Given the description of an element on the screen output the (x, y) to click on. 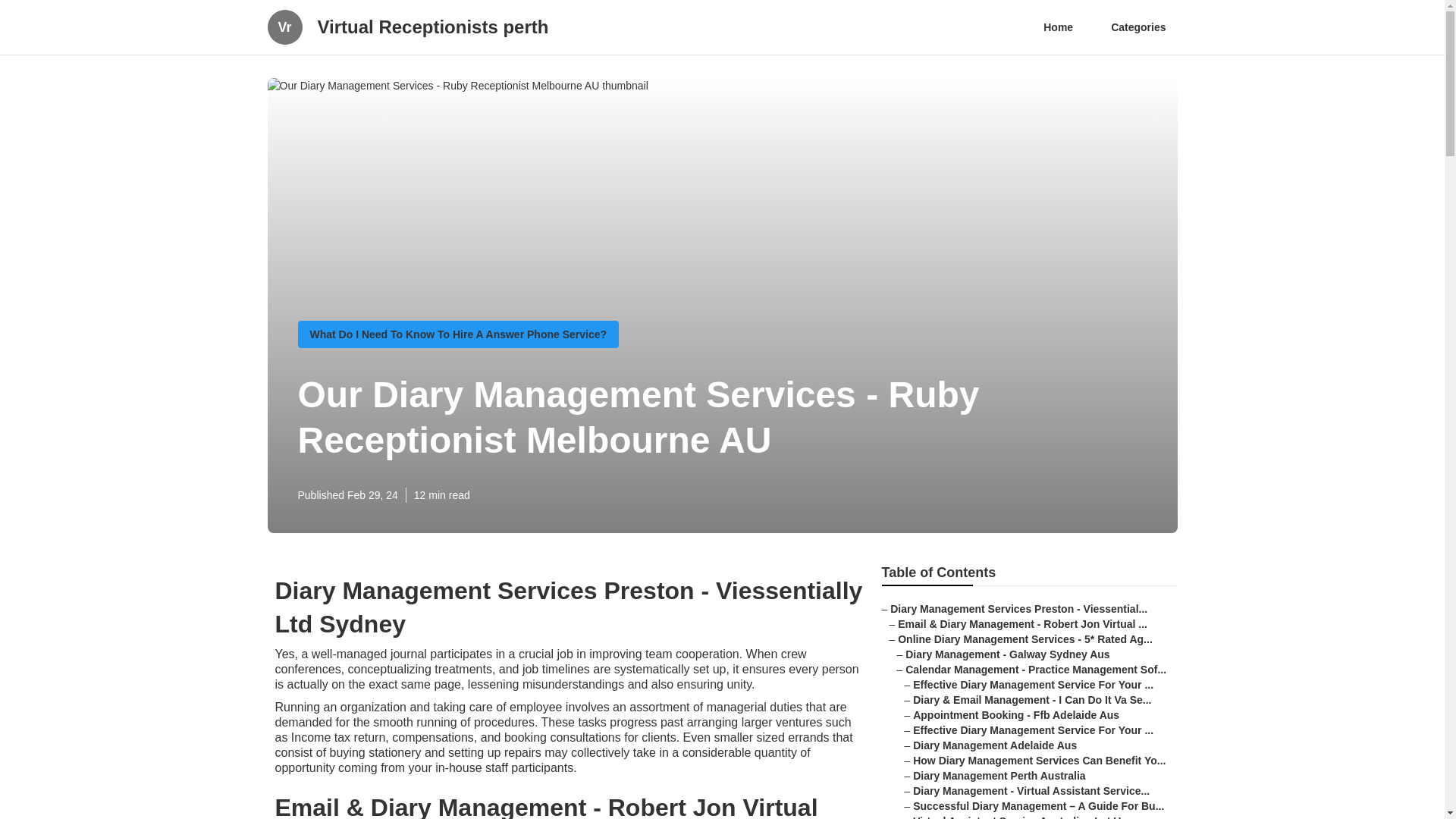
Categories (1137, 27)
What Do I Need To Know To Hire A Answer Phone Service? (457, 334)
Home (1058, 27)
